Given the description of an element on the screen output the (x, y) to click on. 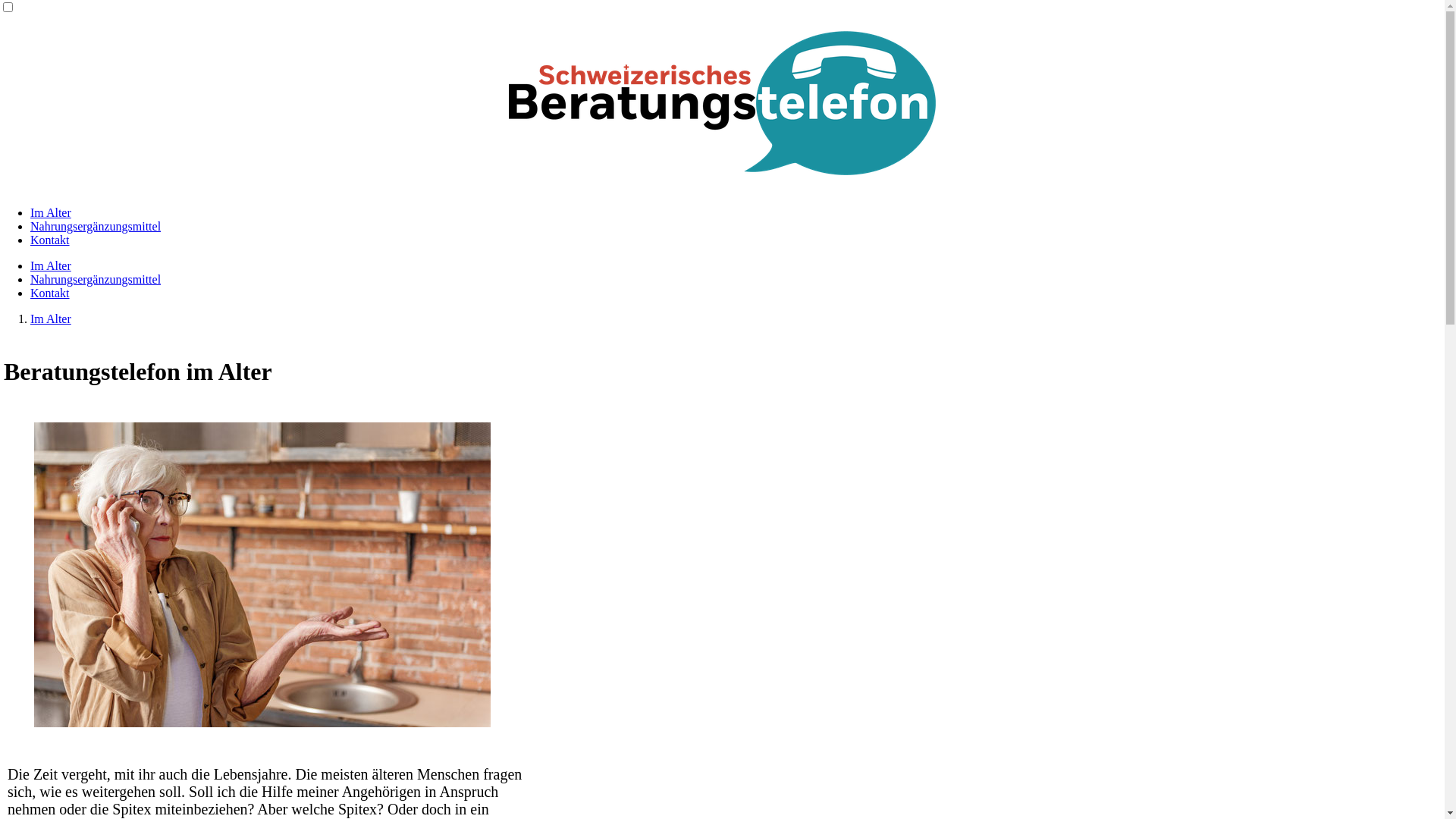
Kontakt Element type: text (49, 239)
Im Alter Element type: text (50, 265)
Kontakt Element type: text (49, 292)
Im Alter Element type: text (50, 318)
Im Alter Element type: text (50, 212)
